Given the description of an element on the screen output the (x, y) to click on. 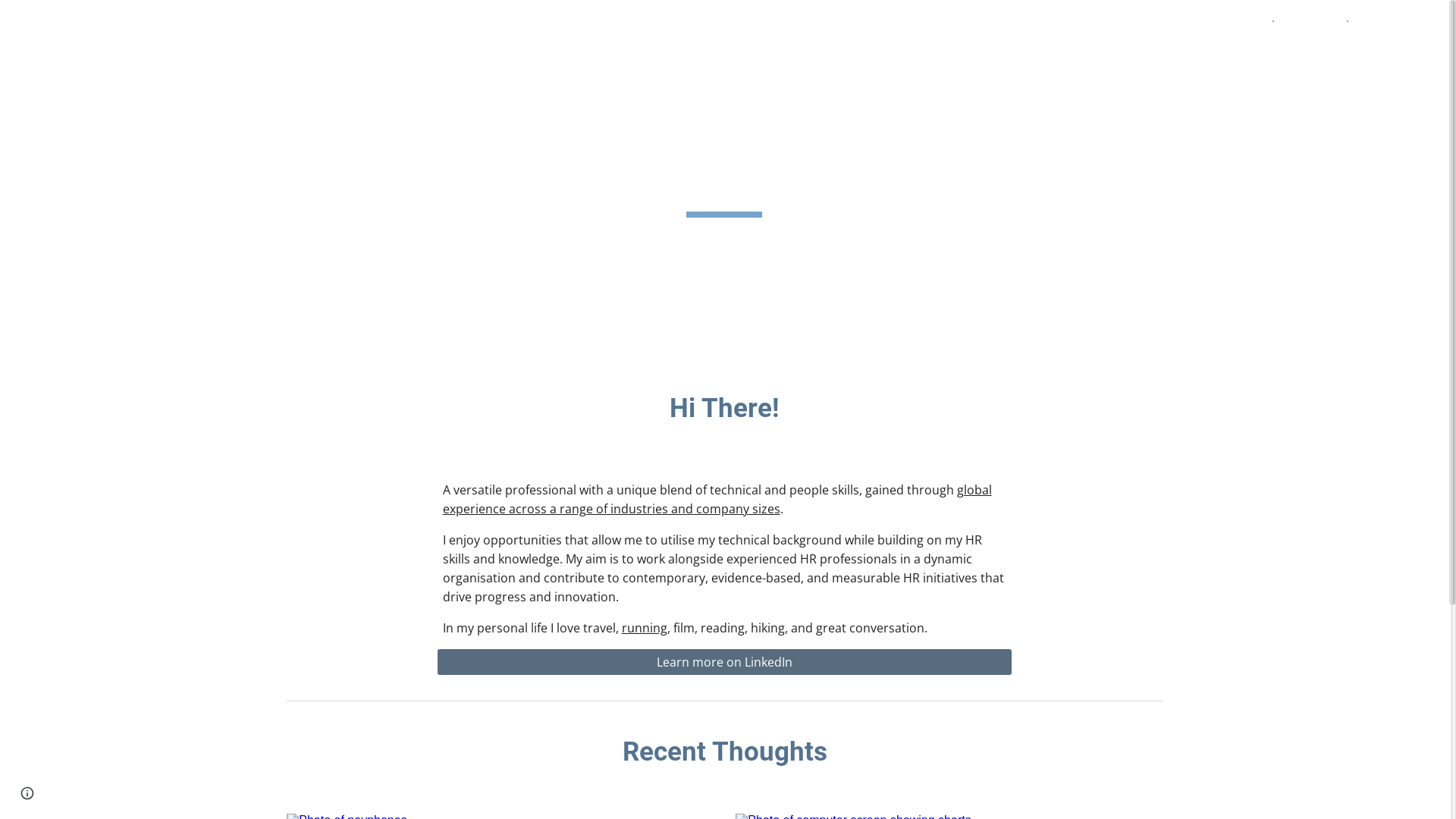
running Element type: text (644, 627)
Learn more on LinkedIn Element type: text (724, 661)
Andrew Powell Element type: text (79, 19)
Thoughts Element type: text (1310, 20)
About Element type: text (1244, 20)
